Given the description of an element on the screen output the (x, y) to click on. 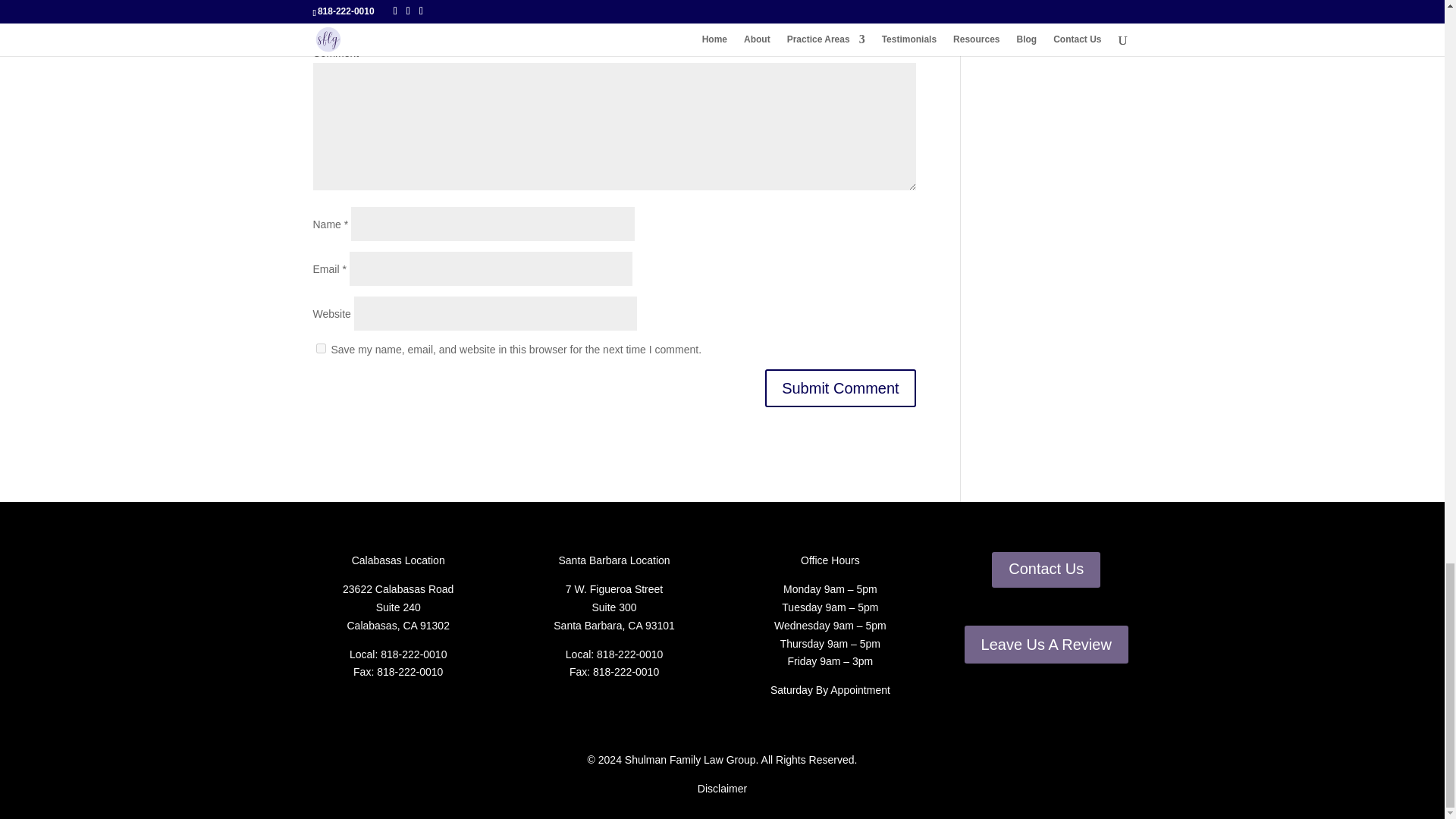
yes (319, 347)
Submit Comment (840, 388)
Leave Us A Review (1045, 644)
Submit Comment (840, 388)
818-222-0010 (629, 654)
Contact Us (1045, 570)
818-222-0010 (413, 654)
